Given the description of an element on the screen output the (x, y) to click on. 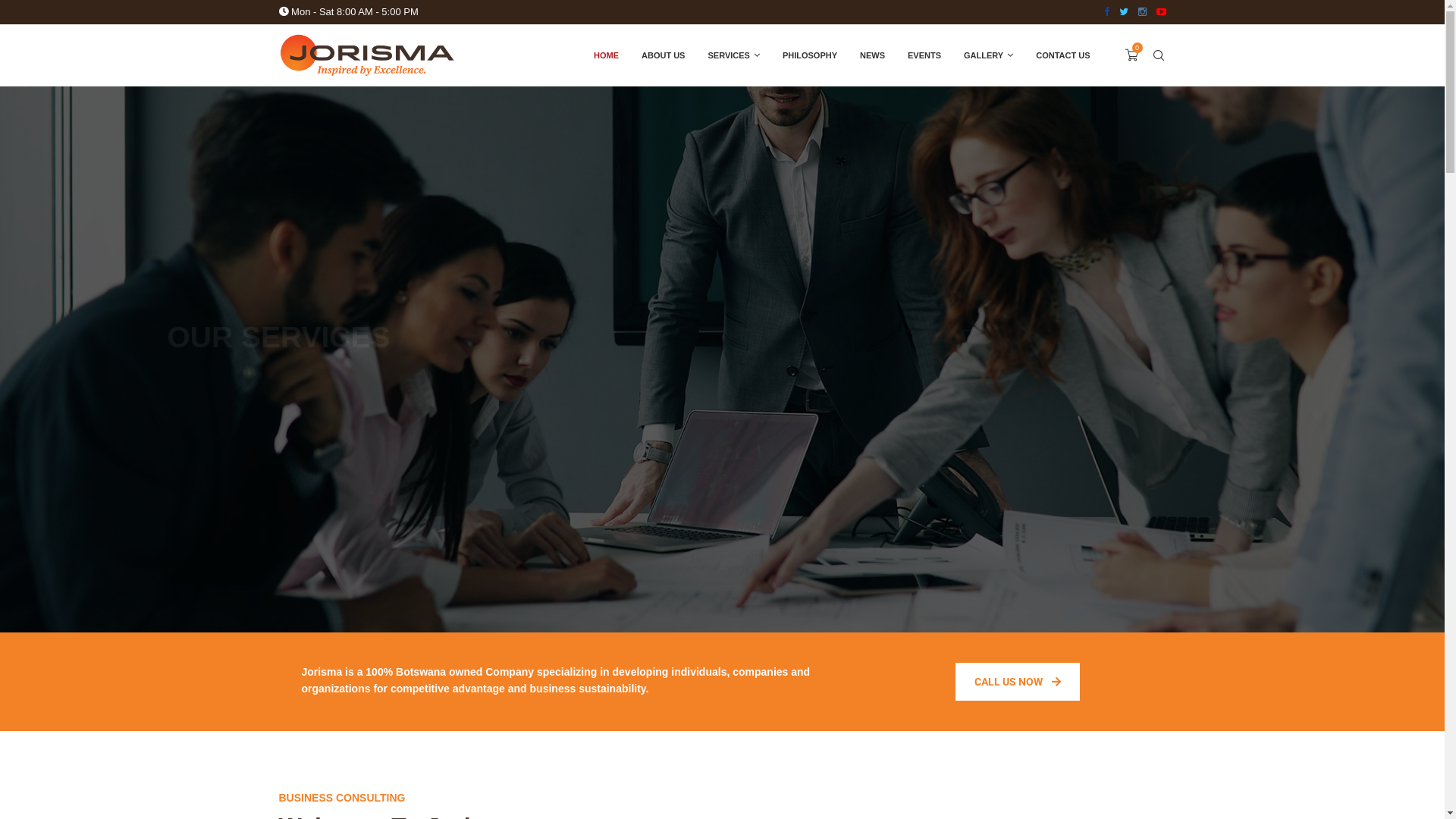
EVENTS Element type: text (924, 55)
PHILOSOPHY Element type: text (809, 55)
CONTACT US Element type: text (721, 408)
GALLERY Element type: text (988, 55)
ABOUT US Element type: text (662, 55)
SERVICES Element type: text (733, 55)
0 Element type: text (1131, 55)
HOME Element type: text (605, 55)
NEWS Element type: text (871, 55)
CONTACT US Element type: text (1062, 55)
CALL US NOW Element type: text (1017, 681)
